Given the description of an element on the screen output the (x, y) to click on. 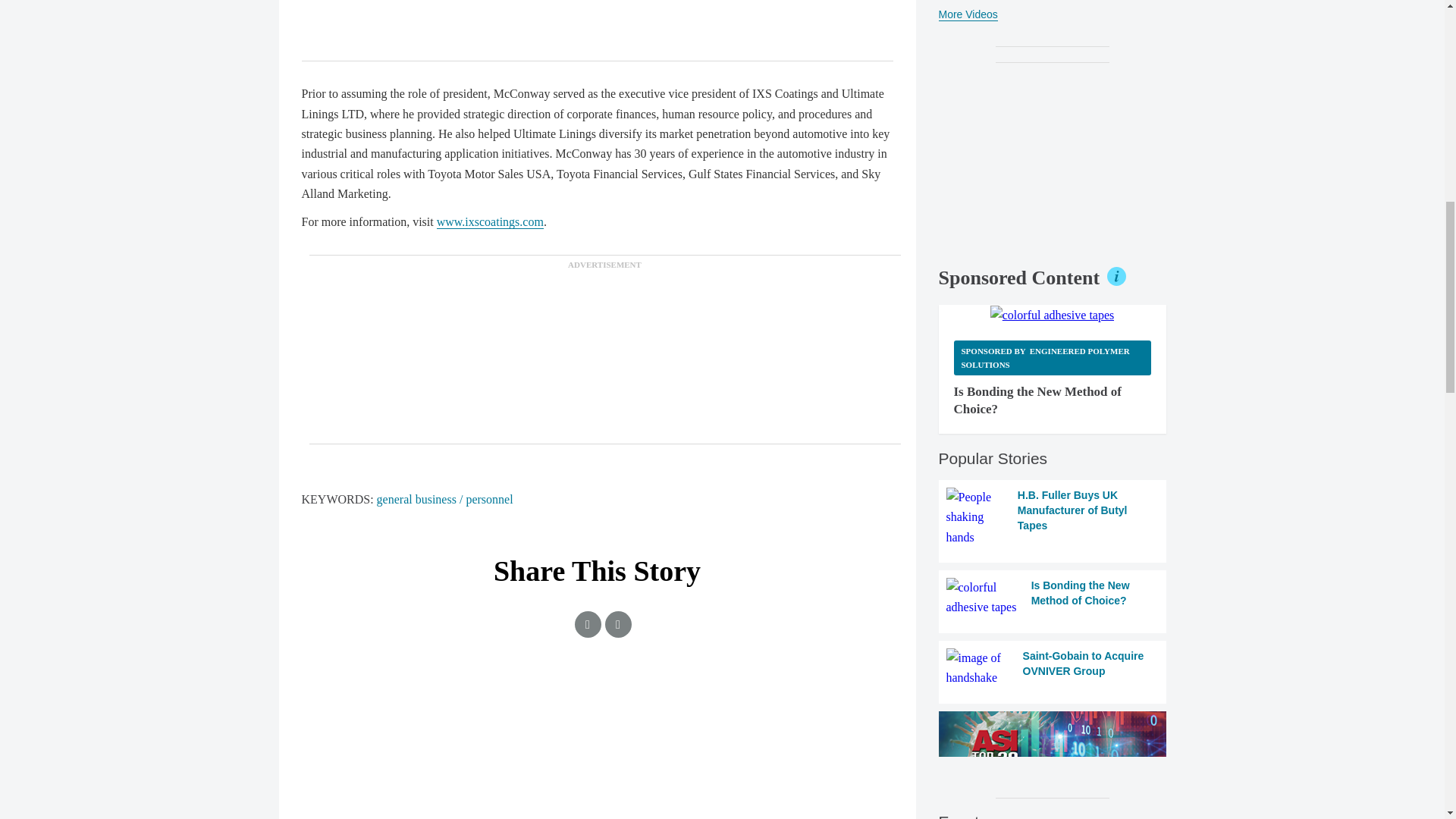
Saint-Gobain to Acquire OVNIVER Group (1052, 668)
colorful adhesive tapes (1052, 315)
H.B. Fuller Buys UK Manufacturer of Butyl Tapes (1052, 517)
Sponsored by Engineered Polymer Solutions (1052, 357)
Is Bonding the New Method of Choice? (1052, 598)
